Given the description of an element on the screen output the (x, y) to click on. 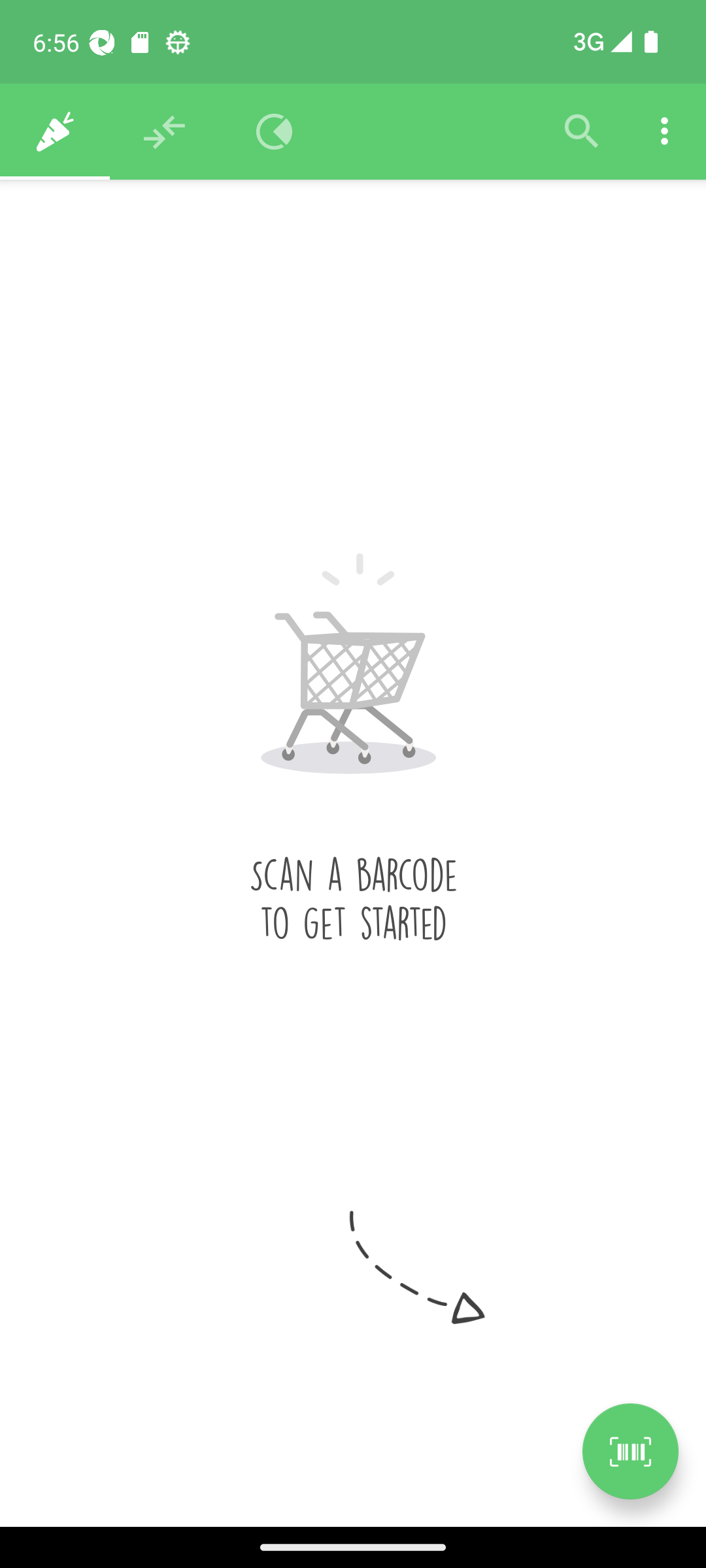
Recommendations (164, 131)
Overview (274, 131)
Filter (581, 131)
Settings (664, 131)
Scan a product (630, 1451)
